Given the description of an element on the screen output the (x, y) to click on. 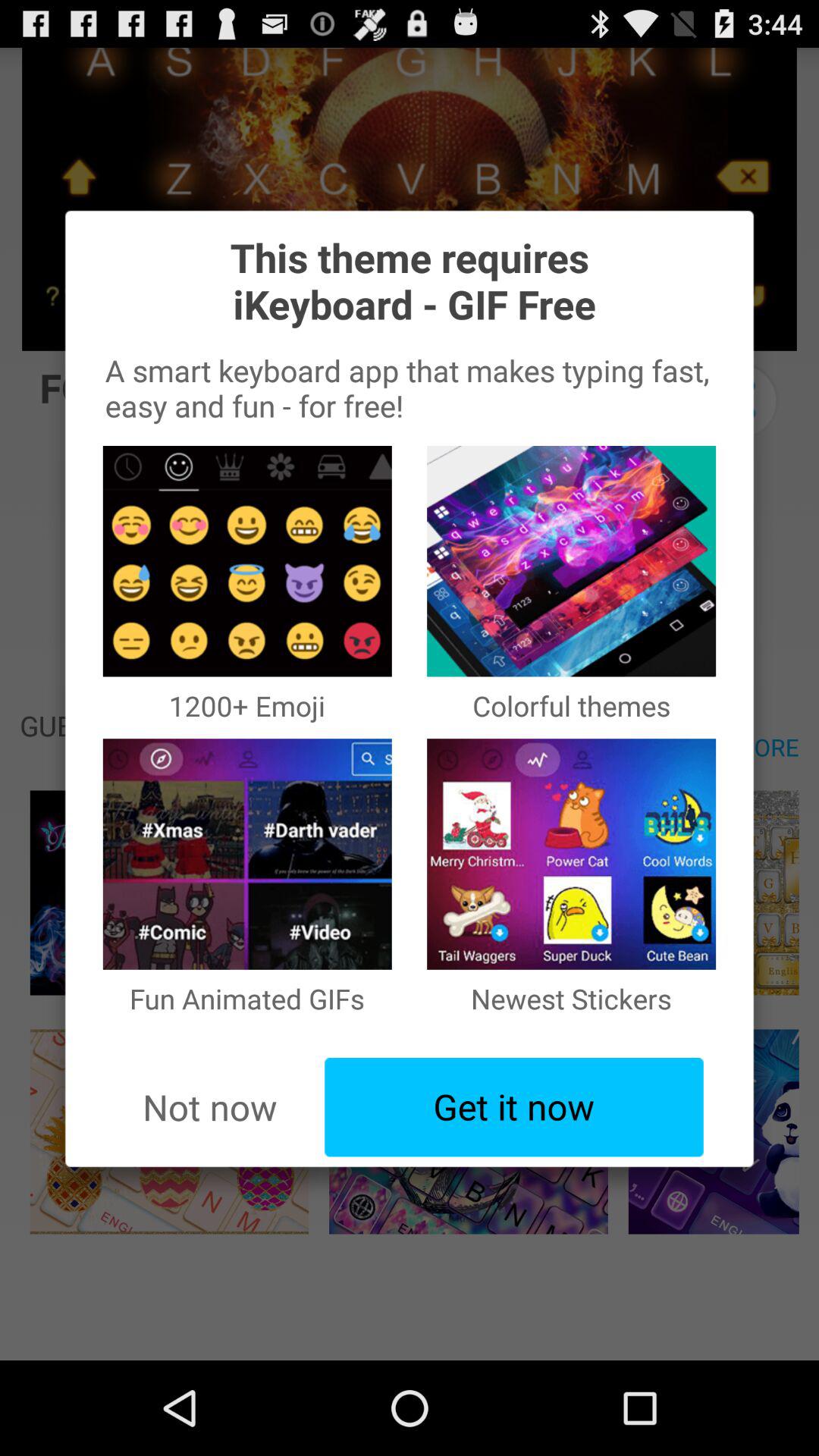
click the icon below fun animated gifs item (209, 1106)
